Given the description of an element on the screen output the (x, y) to click on. 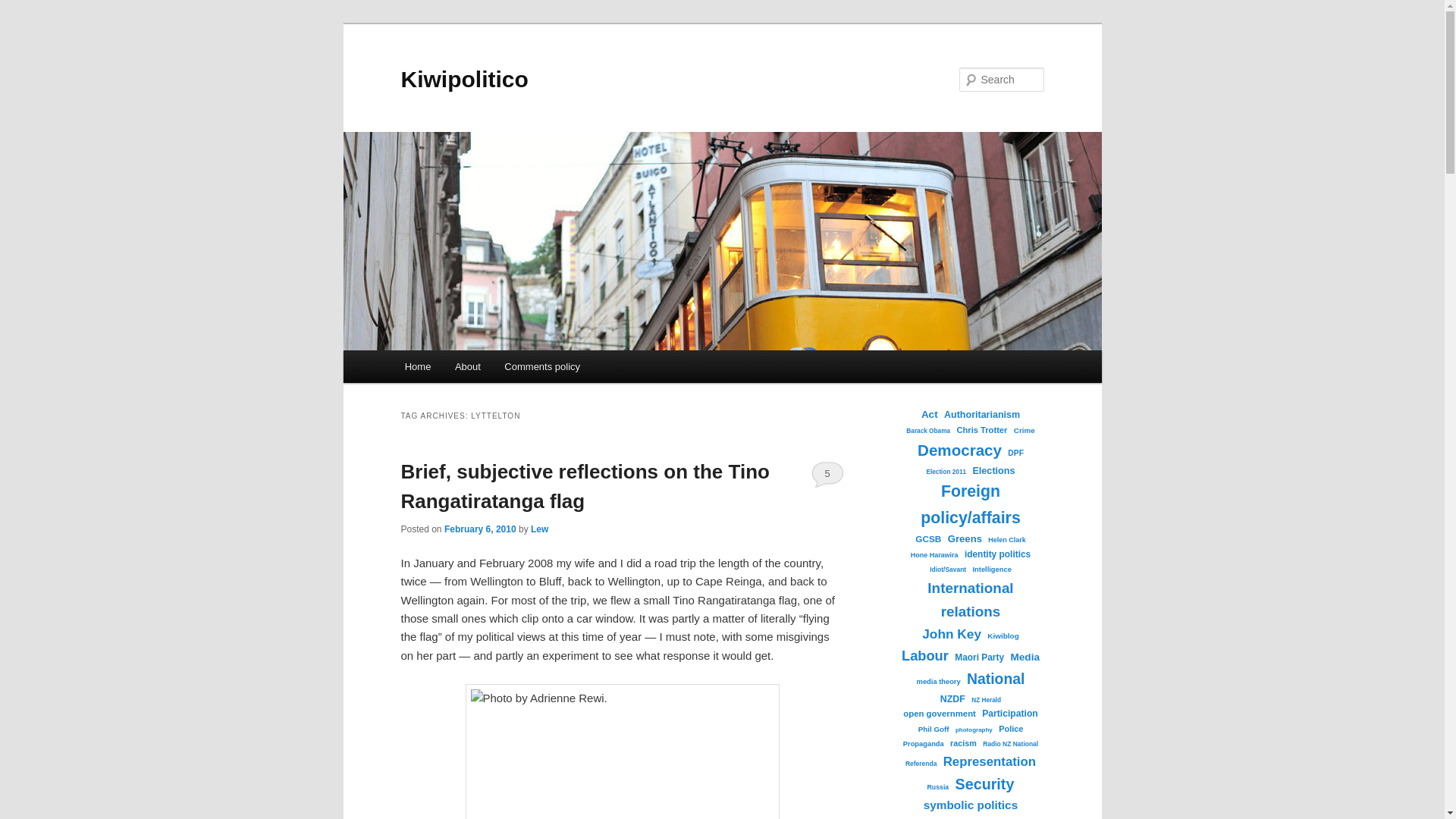
February 6, 2010 (480, 529)
Barack Obama (927, 430)
5 (827, 473)
Act (929, 414)
View all posts by Lew (539, 529)
Home (417, 366)
Kiwipolitico (463, 78)
Chris Trotter (981, 429)
Authoritarianism (981, 414)
